Given the description of an element on the screen output the (x, y) to click on. 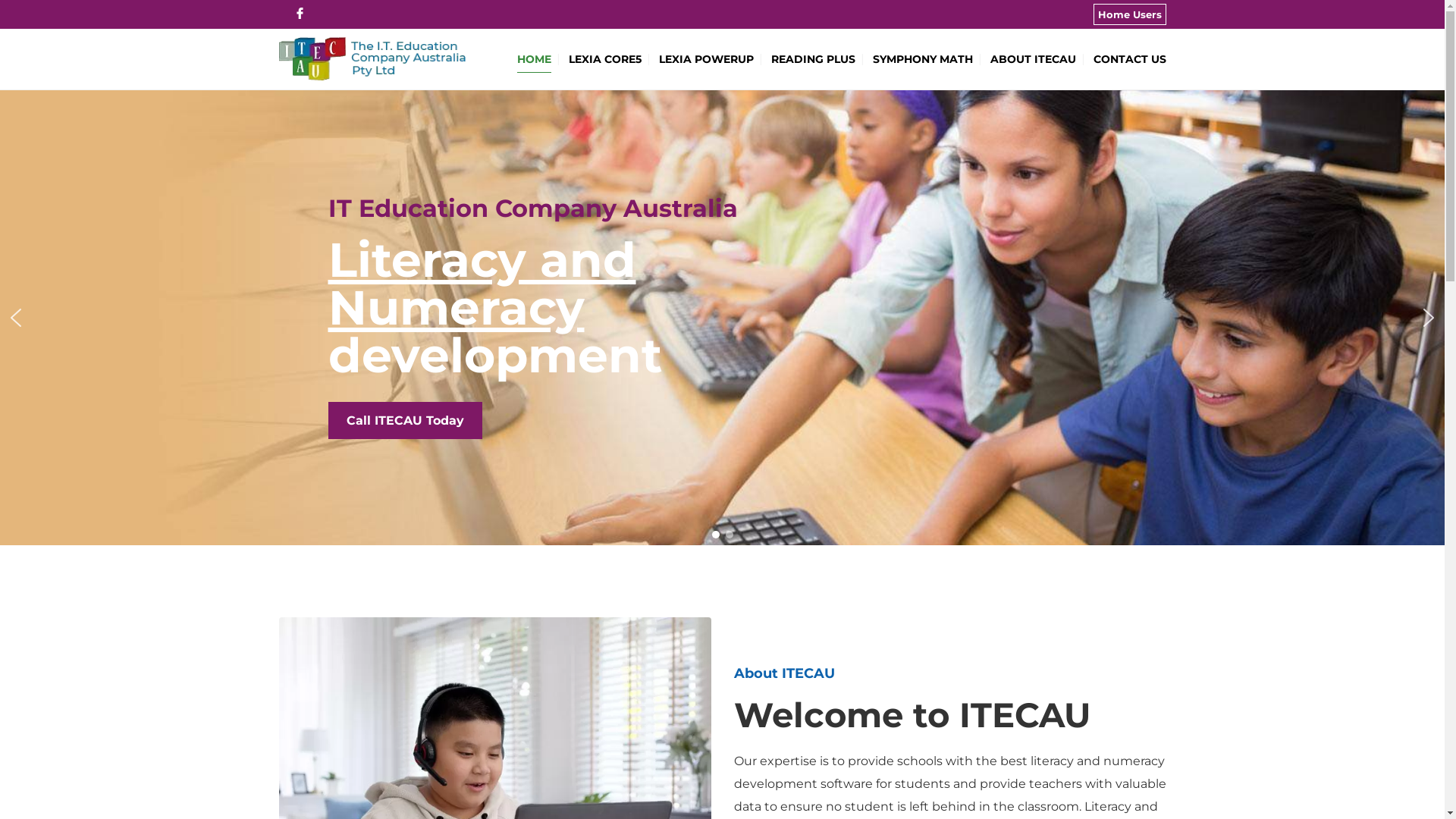
CONTACT US Element type: text (1129, 58)
HOME Element type: text (534, 59)
READING PLUS Element type: text (812, 58)
ABOUT ITECAU Element type: text (1033, 58)
LEXIA POWERUP Element type: text (705, 58)
Home Users Element type: text (1129, 14)
LEXIA CORE5 Element type: text (604, 58)
SYMPHONY MATH Element type: text (922, 58)
Call ITECAU Today Element type: text (404, 420)
